Given the description of an element on the screen output the (x, y) to click on. 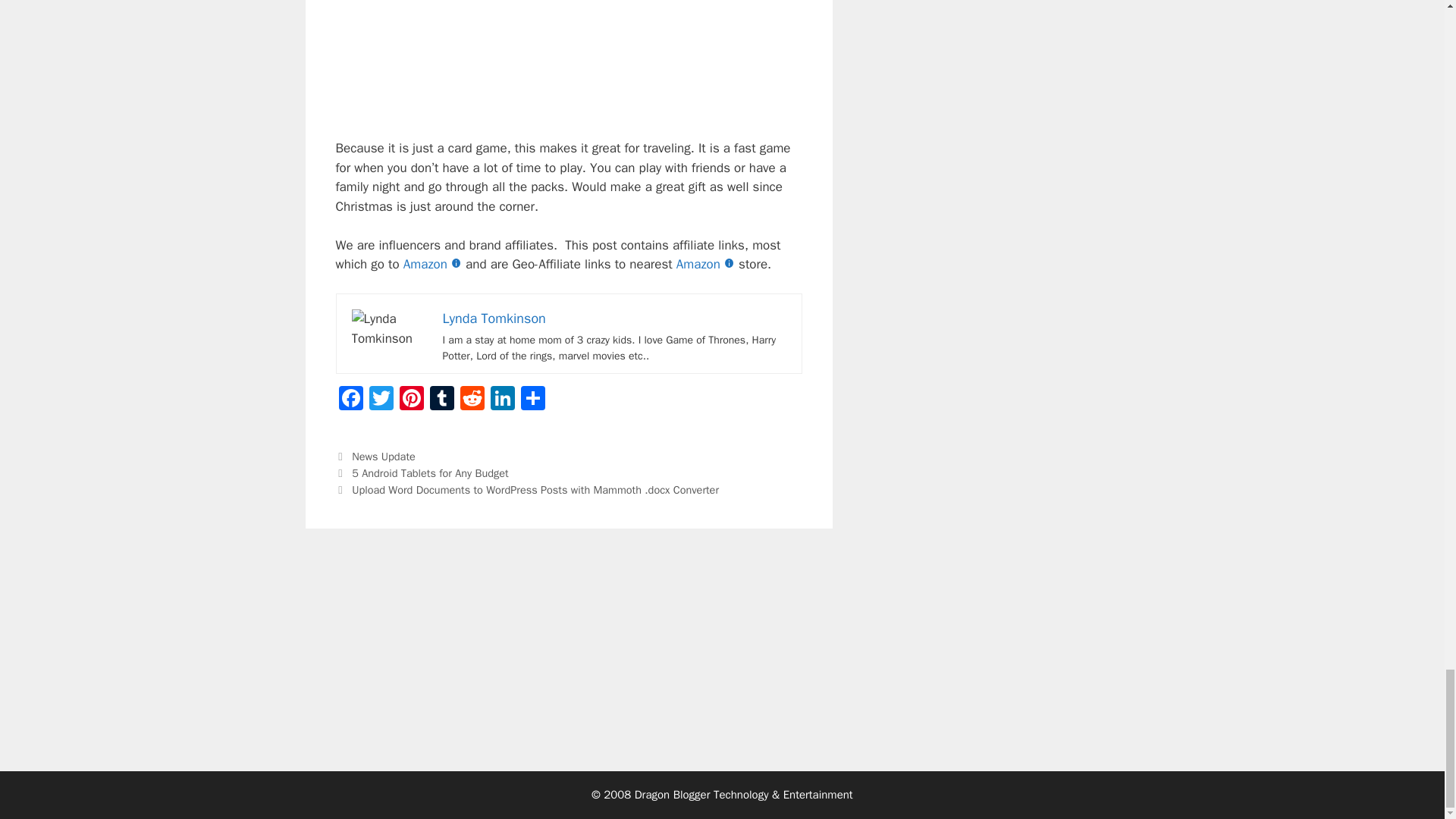
Amazon Homepage (434, 263)
